Given the description of an element on the screen output the (x, y) to click on. 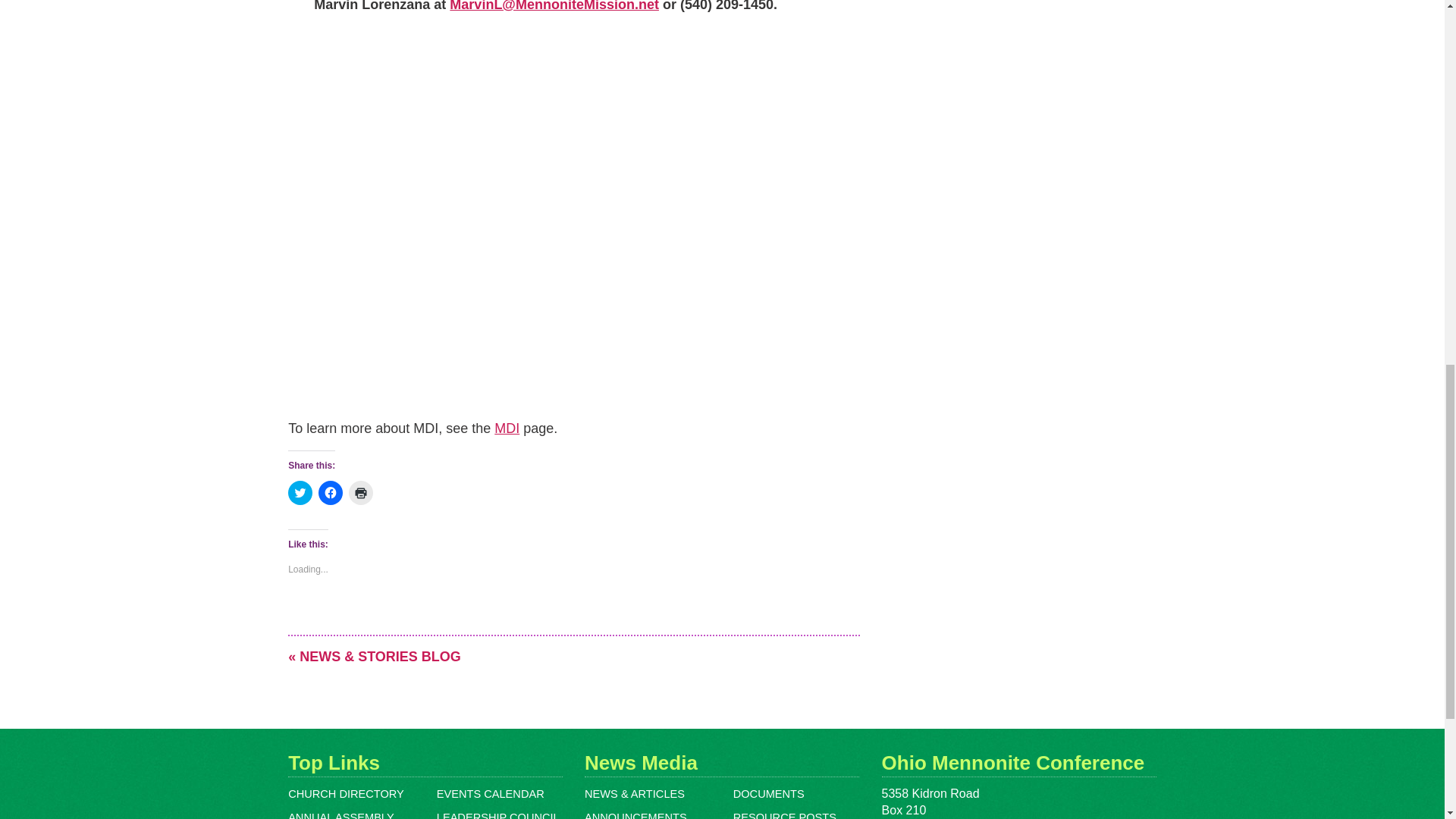
Click to share on Twitter (300, 492)
Click to print (360, 492)
Click to share on Facebook (330, 492)
